Given the description of an element on the screen output the (x, y) to click on. 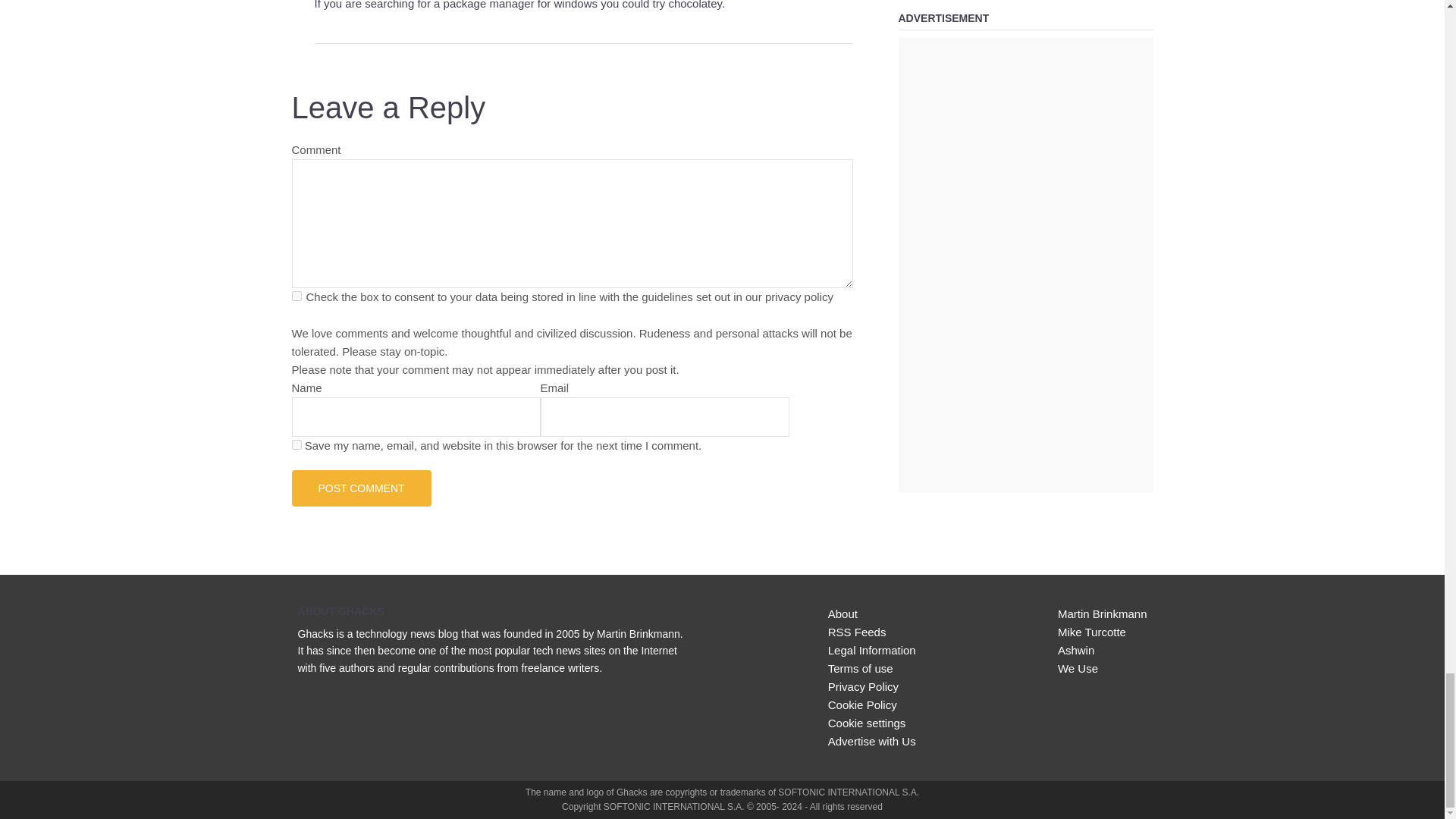
Post Comment (360, 488)
privacy-key (296, 296)
yes (296, 444)
